Given the description of an element on the screen output the (x, y) to click on. 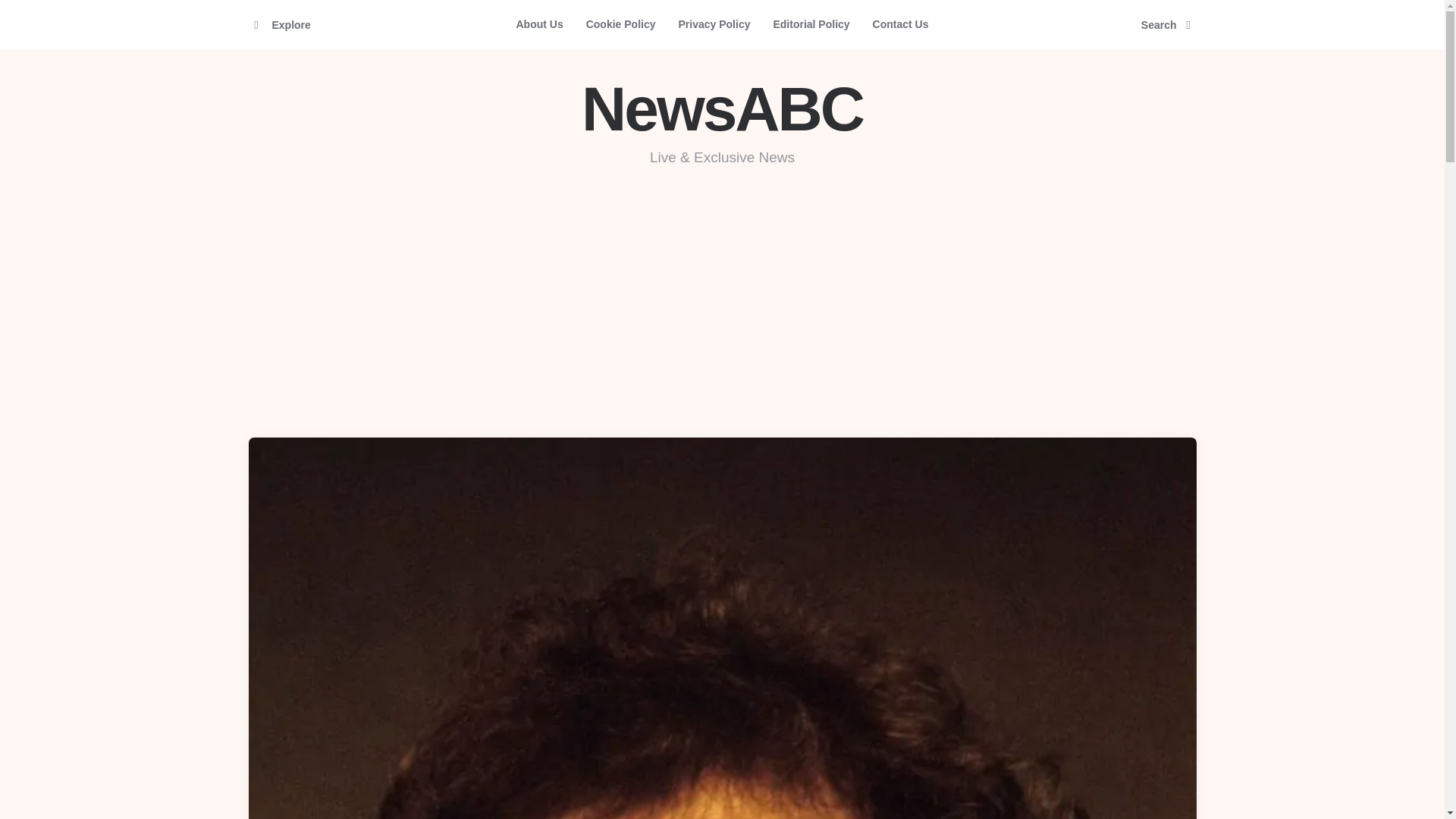
About Us (538, 24)
Cookie Policy (620, 24)
Privacy Policy (713, 24)
Contact Us (900, 24)
Editorial Policy (810, 24)
NewsABC (721, 109)
